Given the description of an element on the screen output the (x, y) to click on. 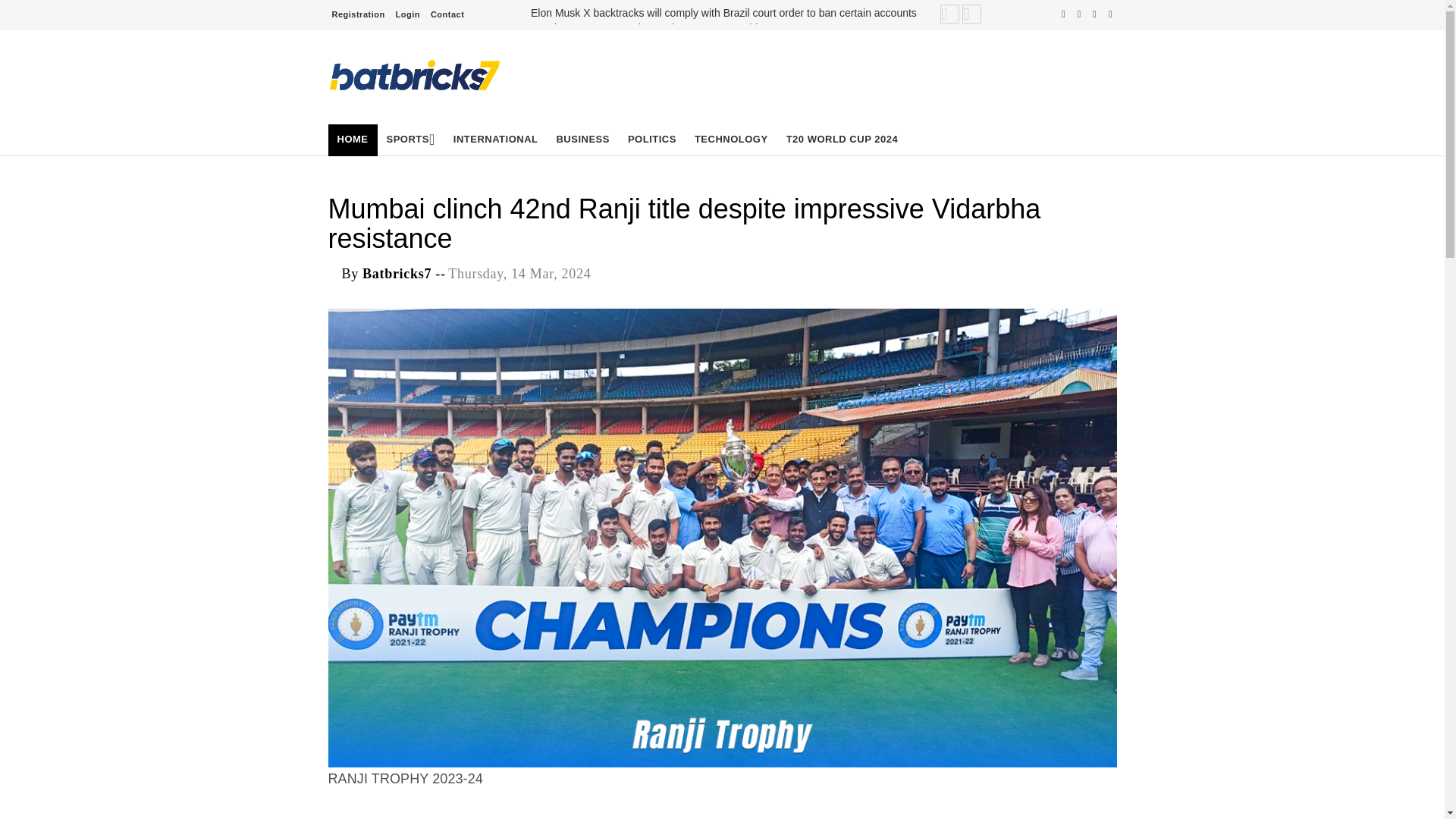
SPORTS (410, 140)
Registration (357, 14)
BUSINESS (582, 140)
Login (407, 14)
INTERNATIONAL (495, 140)
HOME (352, 140)
POLITICS (651, 140)
TECHNOLOGY (731, 140)
T20 WORLD CUP 2024 (842, 140)
Contact (446, 14)
